Given the description of an element on the screen output the (x, y) to click on. 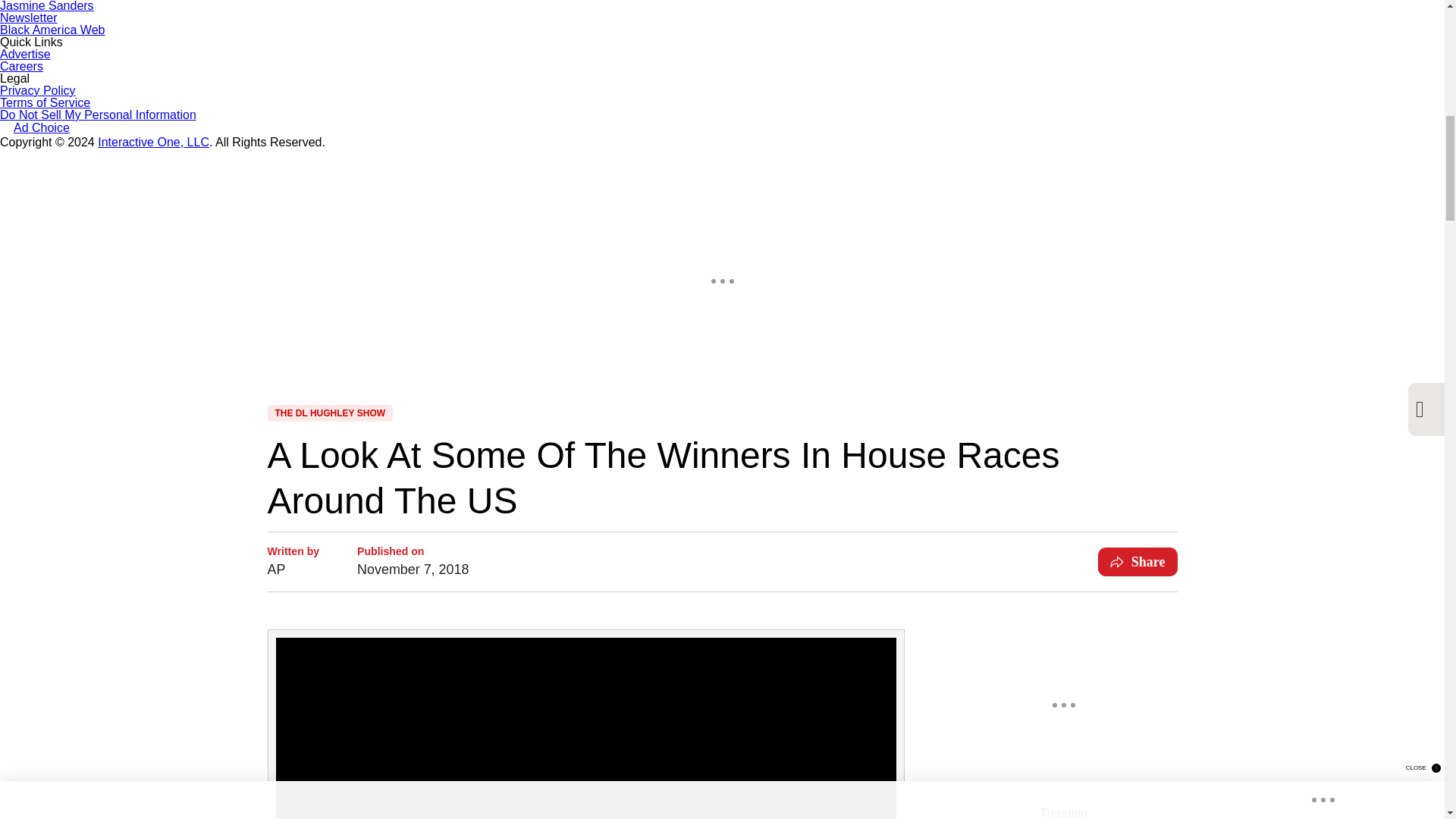
Do Not Sell My Personal Information (98, 114)
Privacy Policy (37, 90)
Careers (21, 65)
AP (292, 568)
THE DL HUGHLEY SHOW (329, 412)
Jasmine Sanders (47, 6)
Ad Choice (34, 128)
Advertise (25, 53)
Terms of Service (45, 102)
Interactive One, LLC (153, 141)
Black America Web (52, 29)
Newsletter (29, 17)
